Given the description of an element on the screen output the (x, y) to click on. 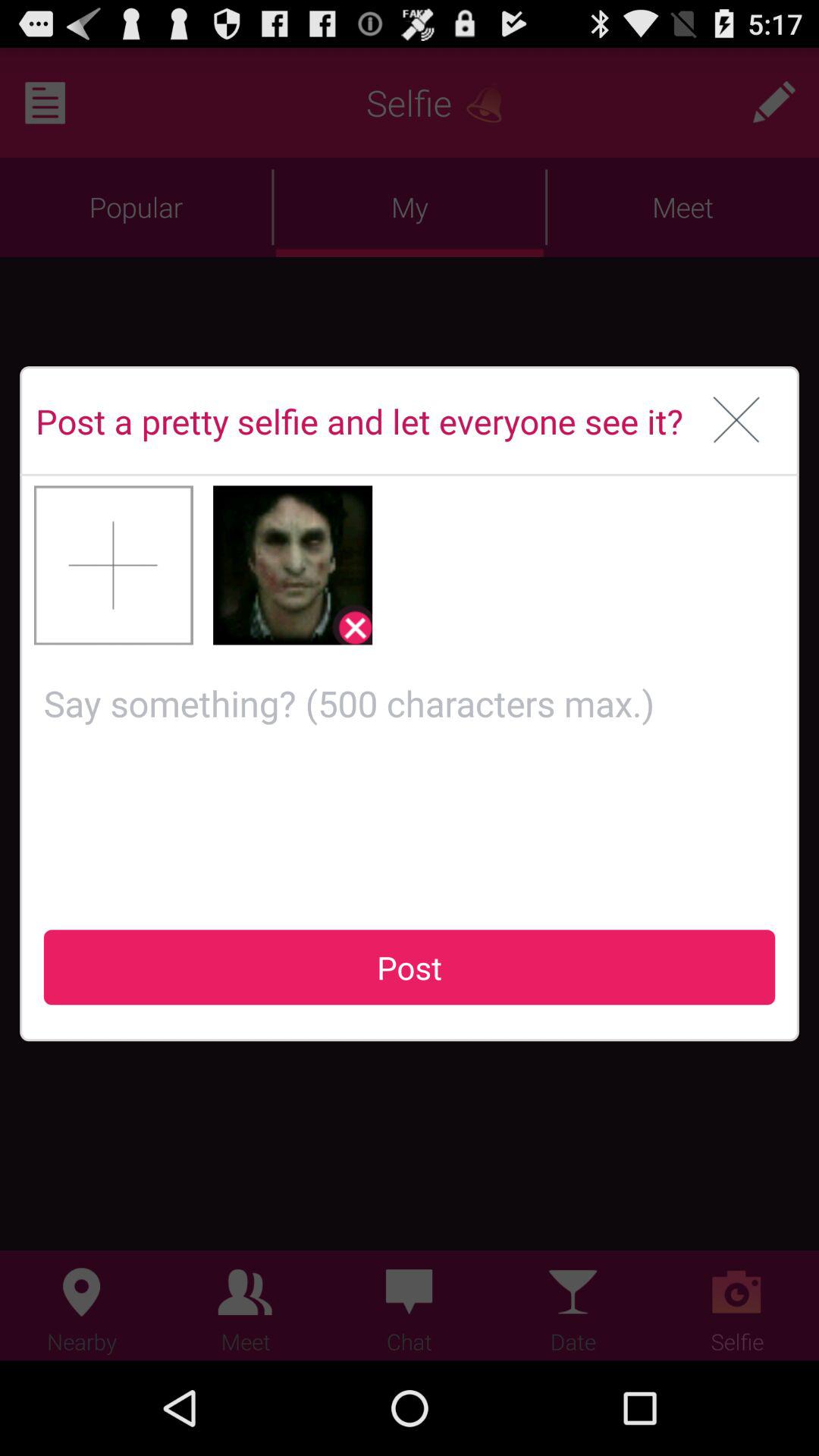
close window (736, 421)
